Given the description of an element on the screen output the (x, y) to click on. 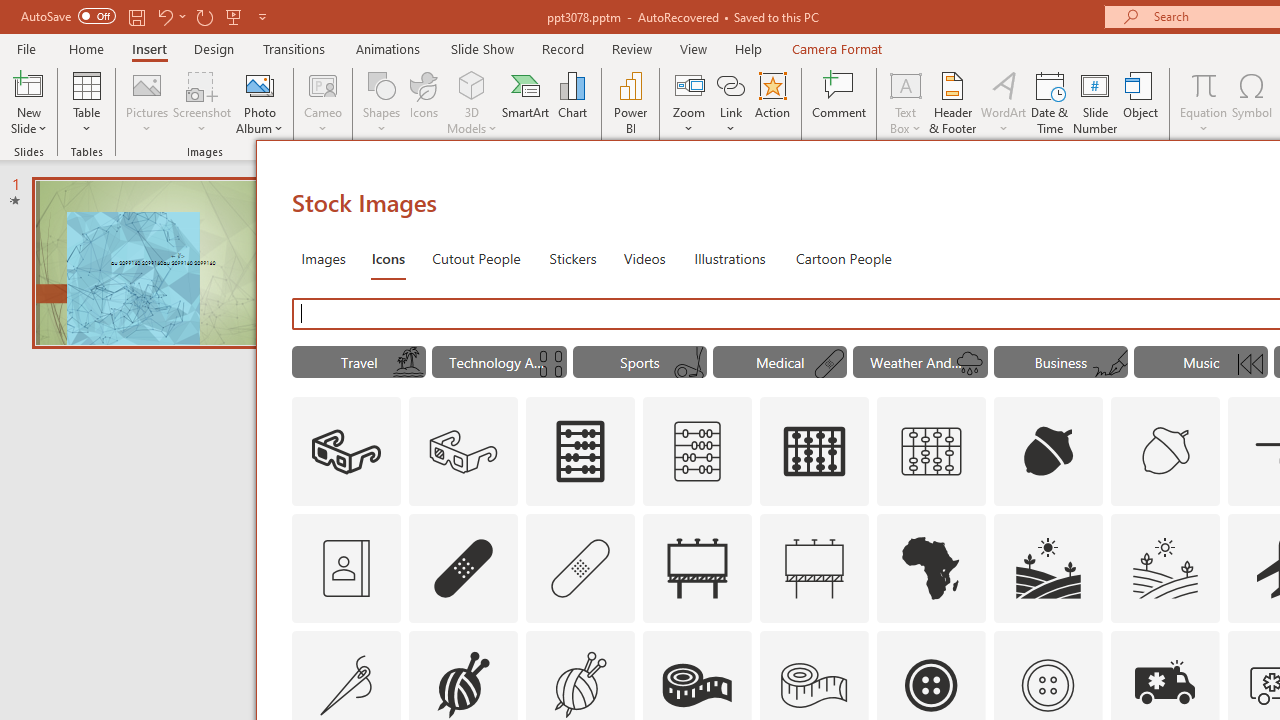
Object... (1141, 102)
